Given the description of an element on the screen output the (x, y) to click on. 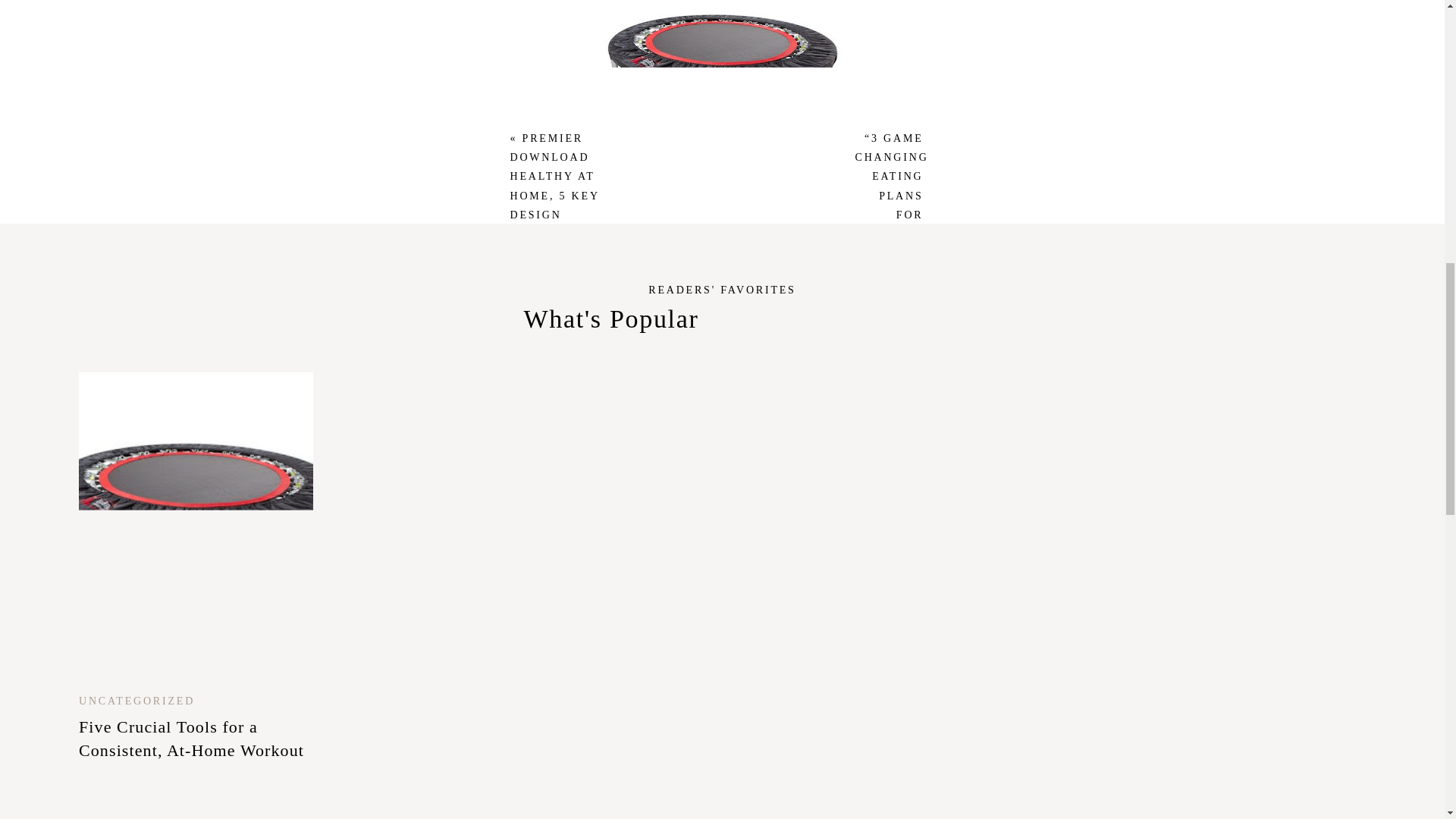
UNCATEGORIZED (136, 700)
